Given the description of an element on the screen output the (x, y) to click on. 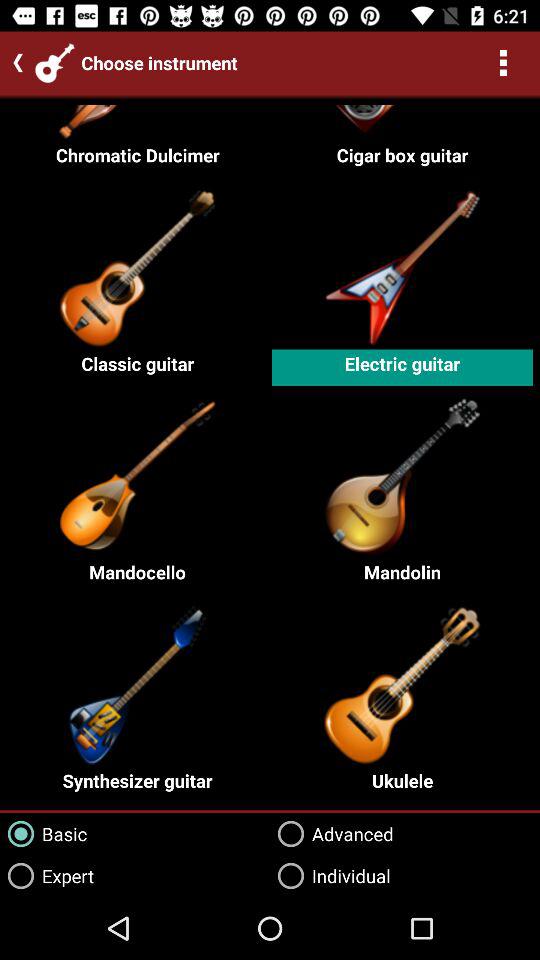
click the item to the left of advanced icon (43, 834)
